Given the description of an element on the screen output the (x, y) to click on. 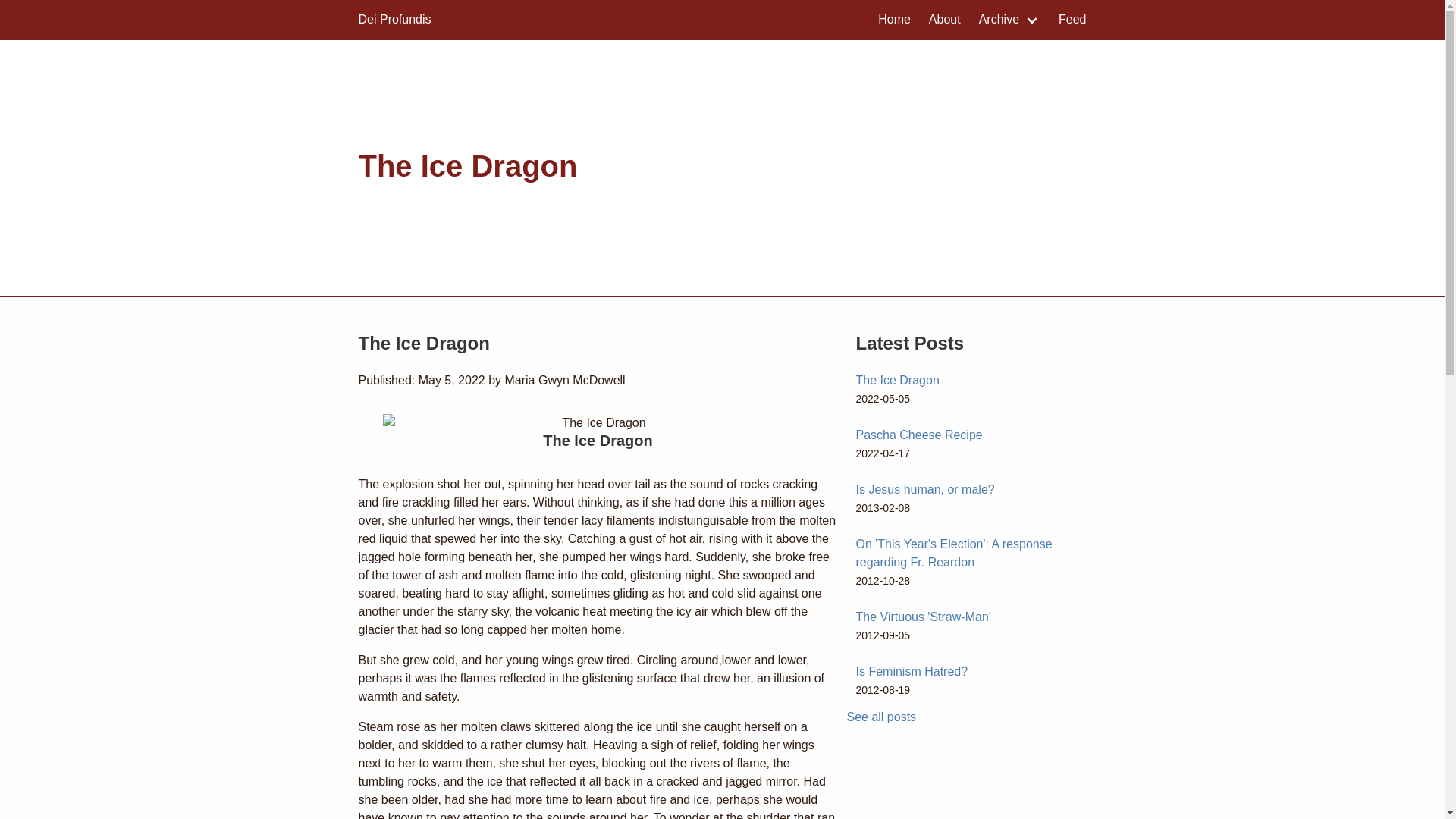
Is Jesus human, or male? (925, 489)
See all posts (880, 717)
About (944, 19)
Feed (1071, 19)
Pascha Cheese Recipe (918, 434)
The Ice Dragon (897, 379)
The Virtuous 'Straw-Man' (923, 616)
Dei Profundis (394, 19)
Is Feminism Hatred? (912, 671)
Archive (1009, 19)
On 'This Year's Election': A response regarding Fr. Reardon (953, 552)
Home (894, 19)
